Given the description of an element on the screen output the (x, y) to click on. 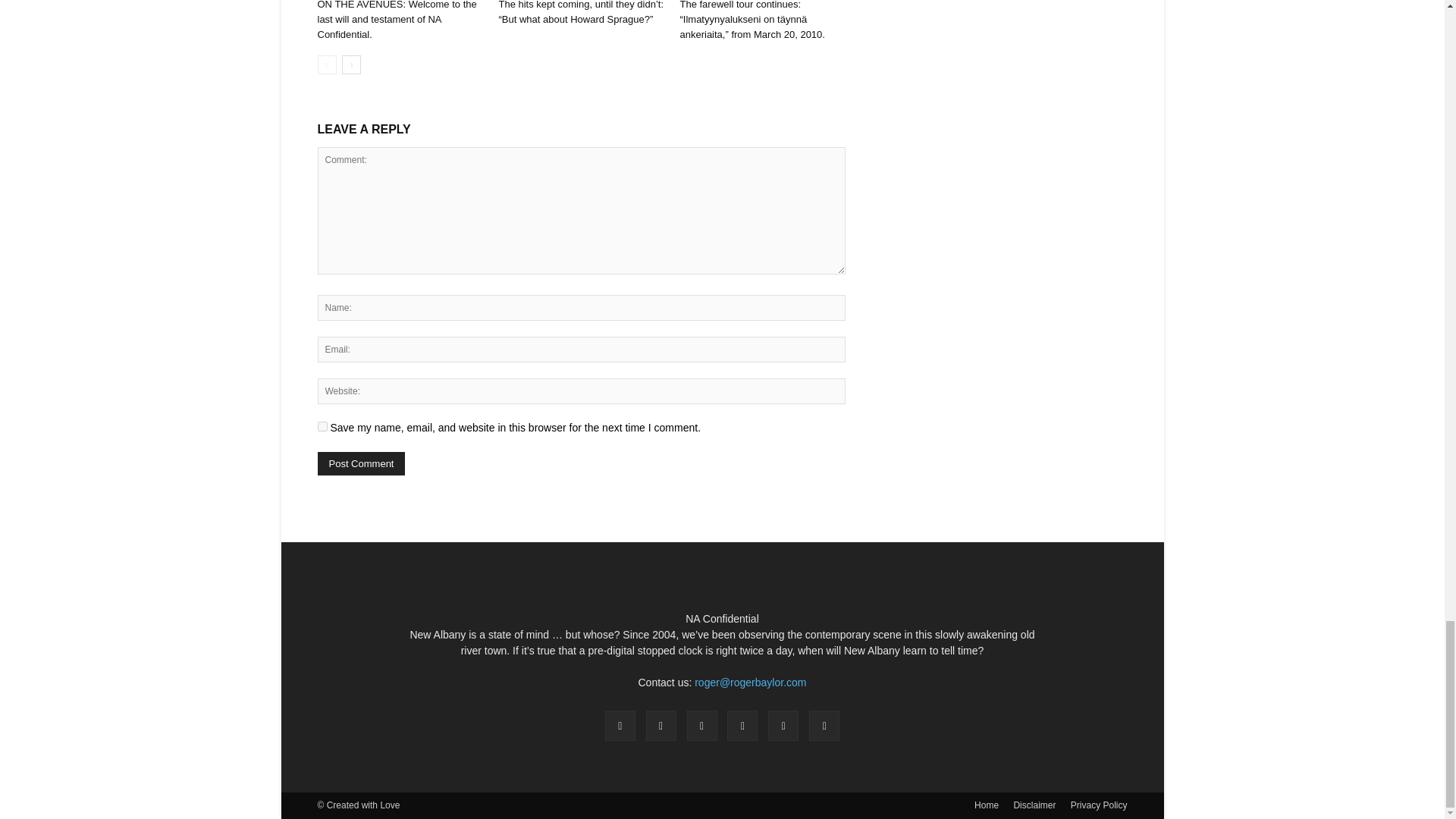
Post Comment (360, 463)
yes (321, 426)
